Given the description of an element on the screen output the (x, y) to click on. 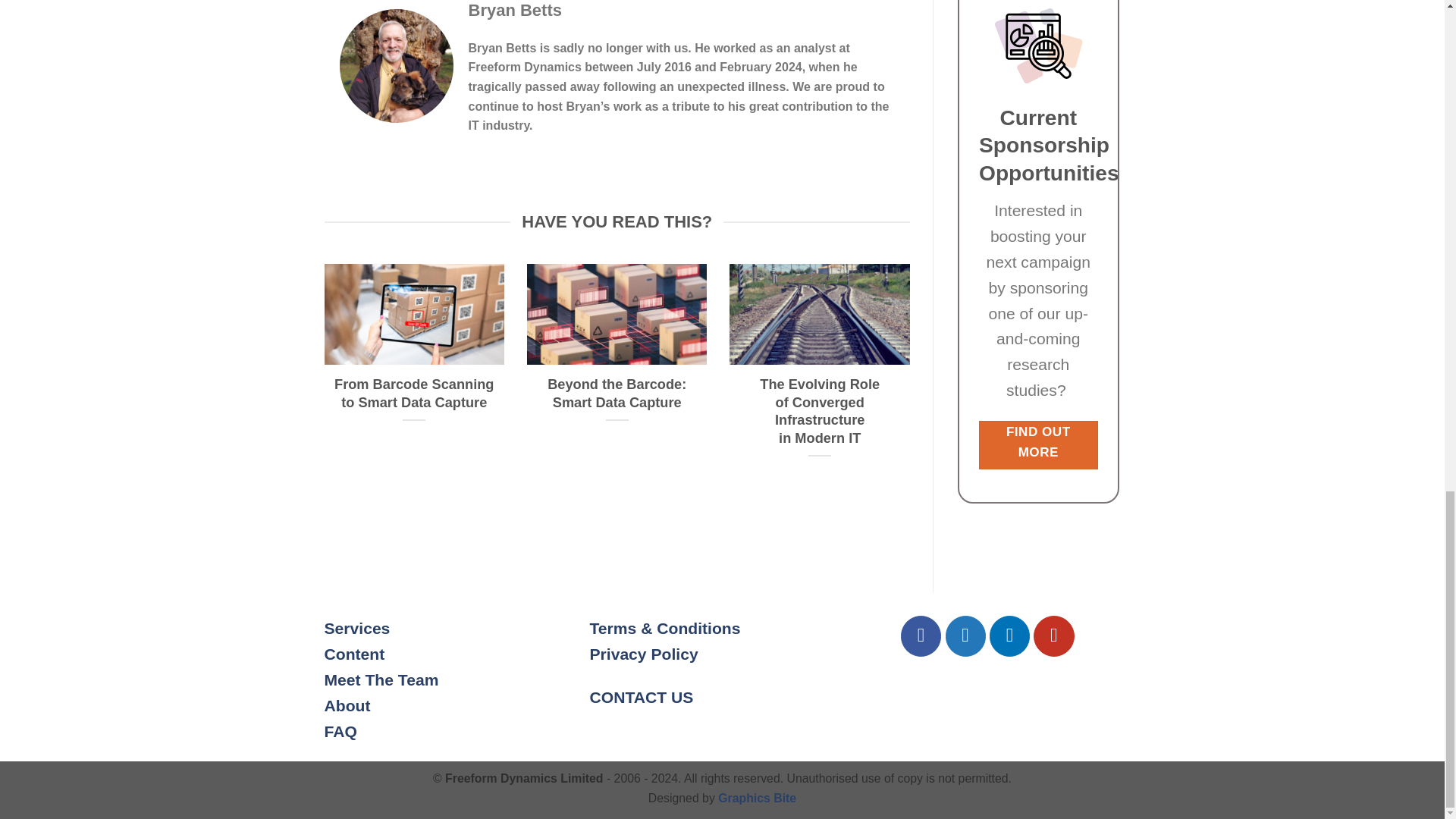
Follow on LinkedIn (1009, 635)
Follow on Twitter (964, 635)
Follow on YouTube (1053, 635)
Bryan Betts (515, 9)
Follow on Facebook (920, 635)
